Given the description of an element on the screen output the (x, y) to click on. 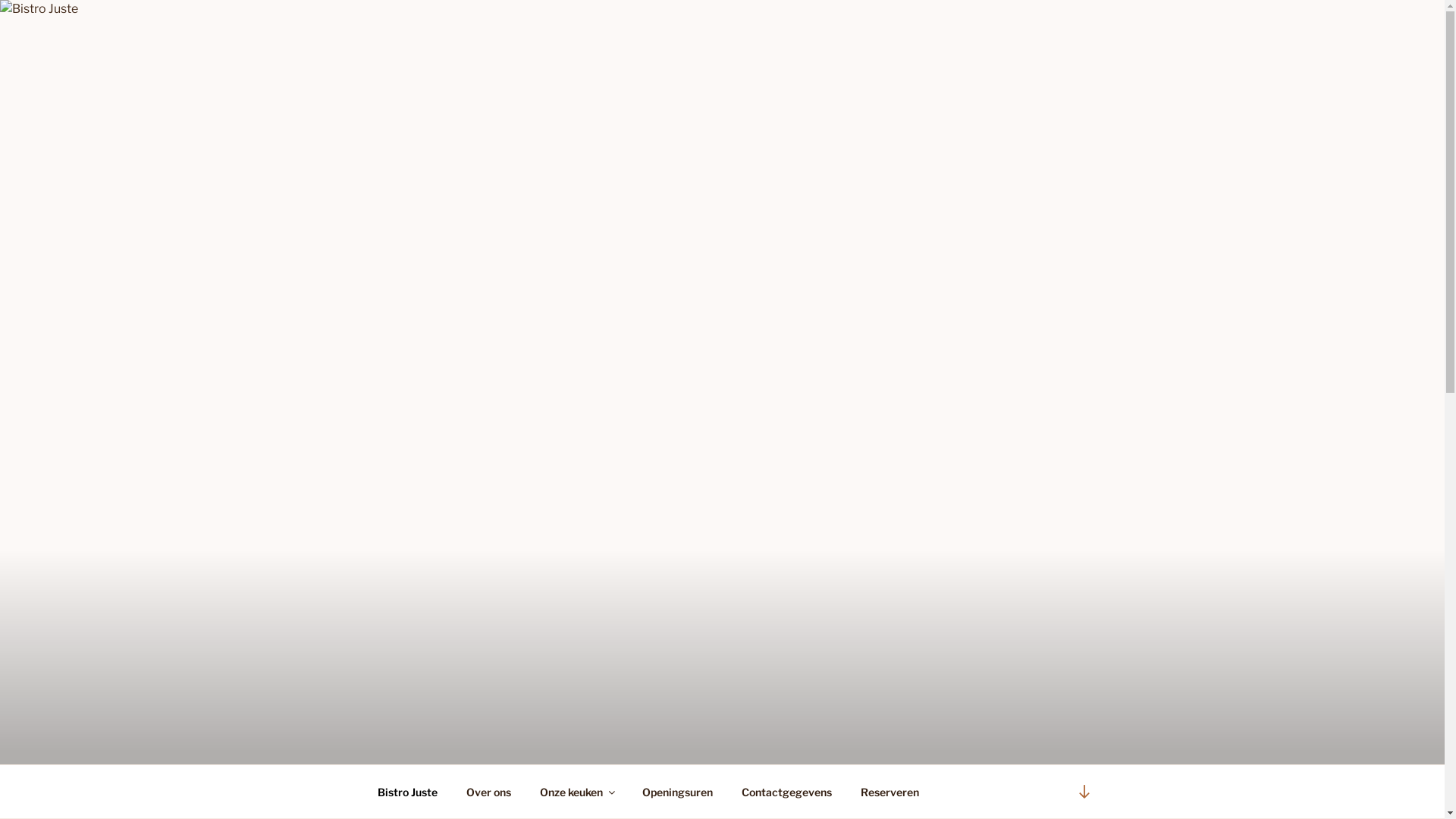
Contactgegevens Element type: text (786, 791)
Onze keuken Element type: text (576, 791)
BISTRO JUSTE Element type: text (492, 744)
Over ons Element type: text (488, 791)
Naar de inhoud springen Element type: text (0, 0)
Reserveren Element type: text (889, 791)
Openingsuren Element type: text (677, 791)
Bistro Juste Element type: text (407, 791)
Scroll omlaag naar de content Element type: text (1083, 790)
